Given the description of an element on the screen output the (x, y) to click on. 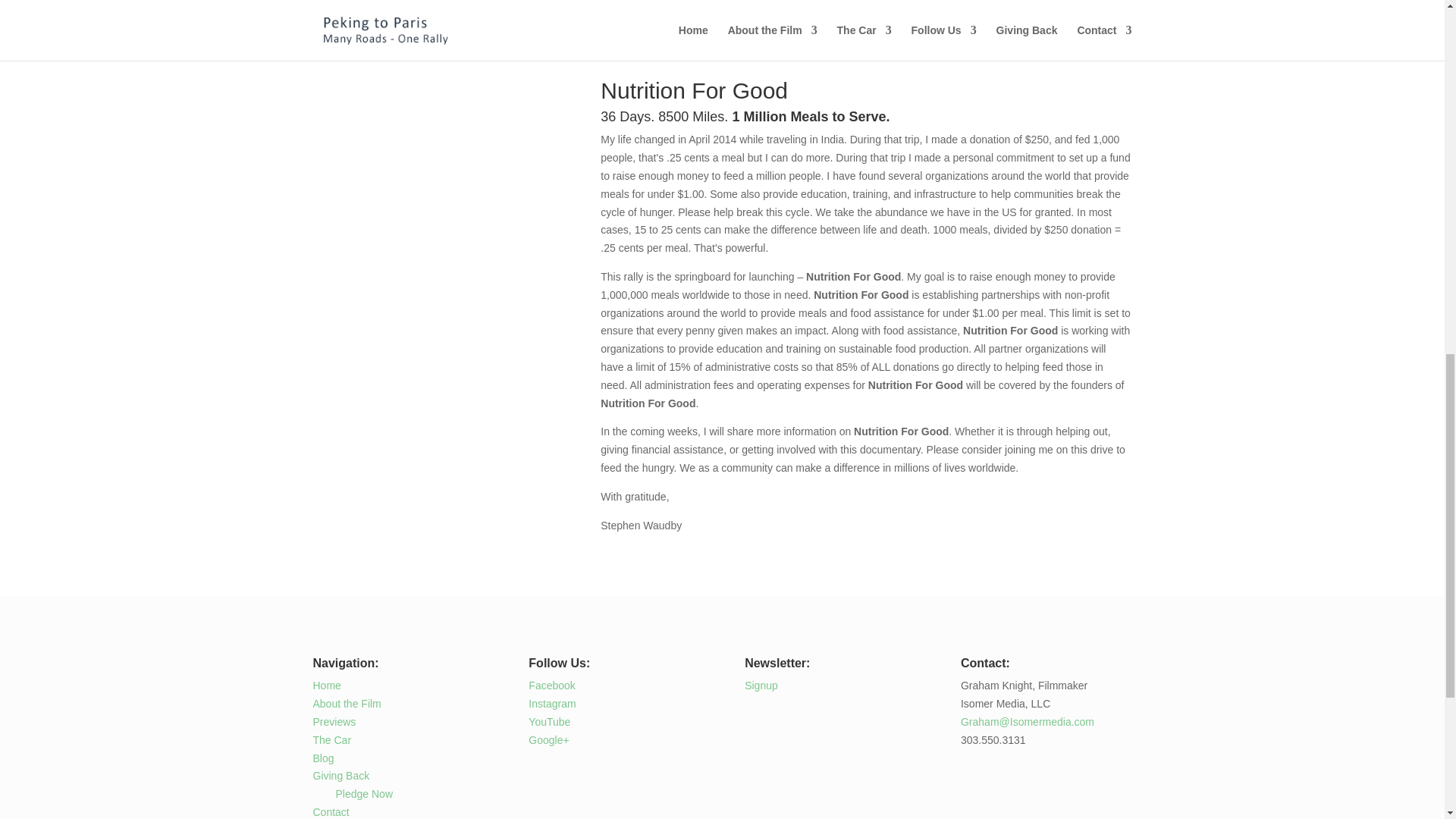
Previews (334, 721)
Home (326, 685)
The Car (331, 739)
About the Film (346, 703)
